Given the description of an element on the screen output the (x, y) to click on. 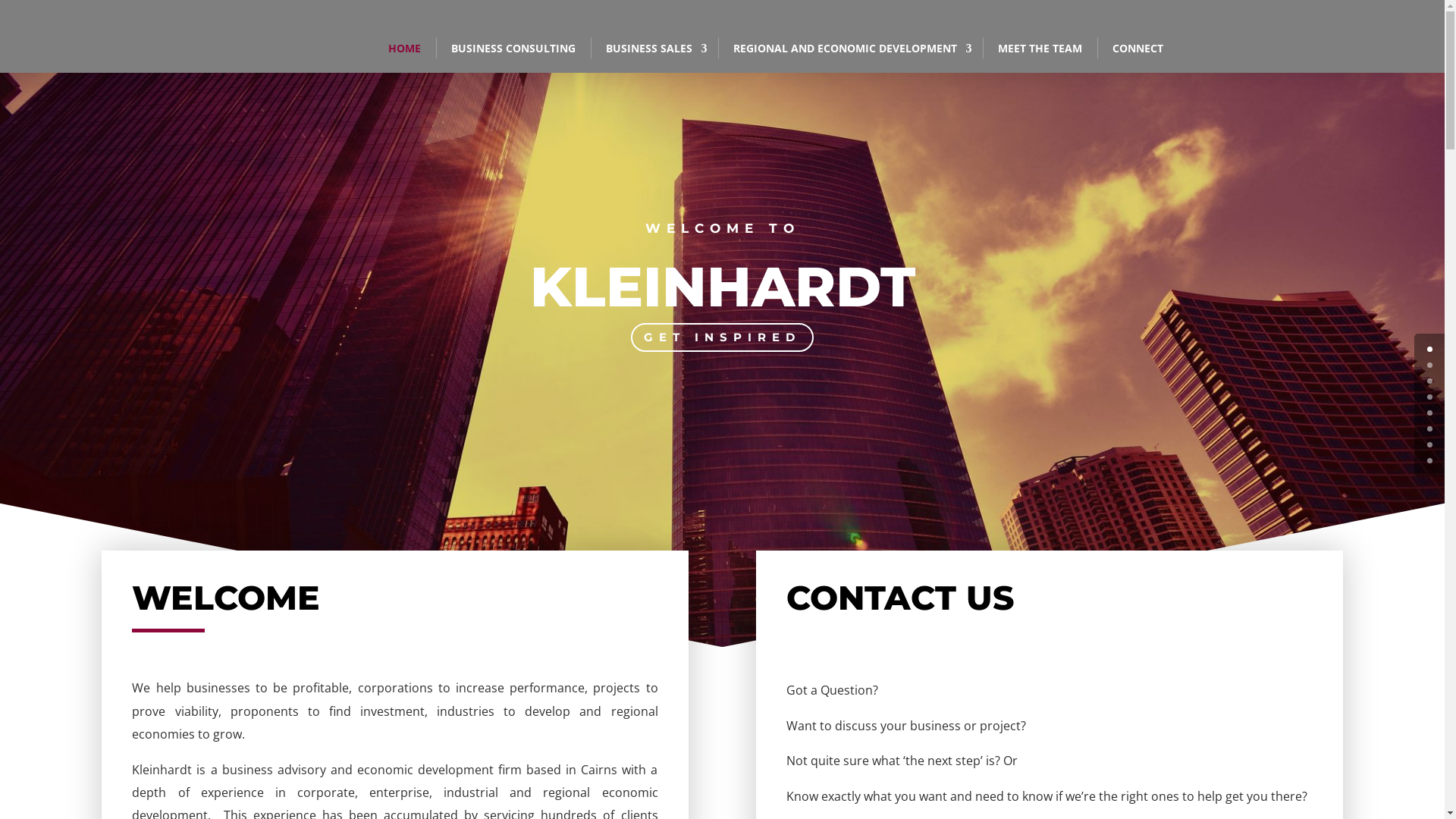
GET INSPIRED Element type: text (721, 337)
5 Element type: text (1429, 428)
0 Element type: text (1429, 348)
1 Element type: text (1429, 364)
MEET THE TEAM Element type: text (1039, 48)
HOME Element type: text (404, 48)
BUSINESS CONSULTING Element type: text (512, 48)
7 Element type: text (1429, 460)
2 Element type: text (1429, 380)
3 Element type: text (1429, 396)
4 Element type: text (1429, 412)
6 Element type: text (1429, 444)
BUSINESS SALES Element type: text (653, 48)
REGIONAL AND ECONOMIC DEVELOPMENT Element type: text (849, 48)
CONNECT Element type: text (1136, 48)
